Given the description of an element on the screen output the (x, y) to click on. 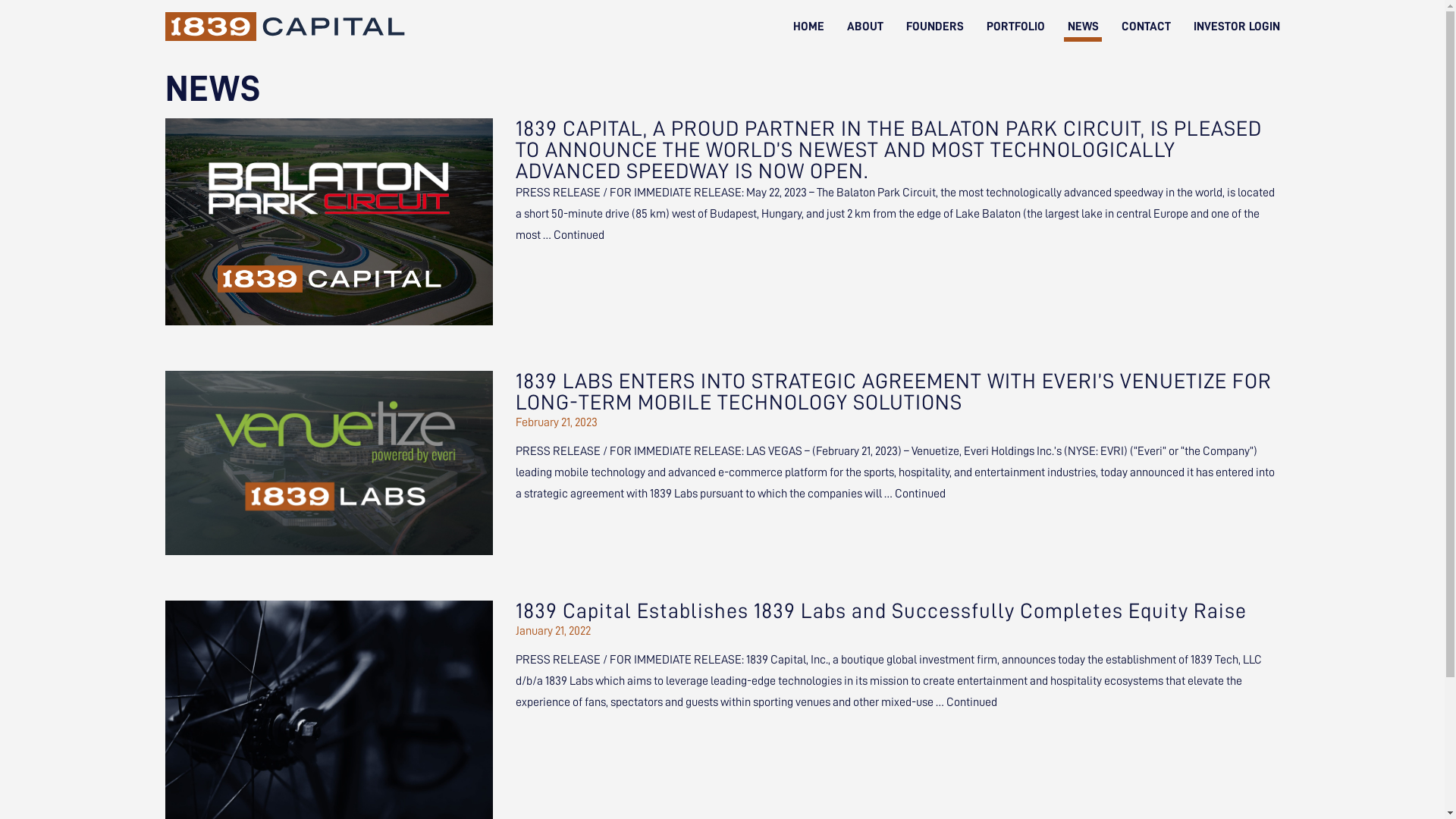
HOME Element type: text (808, 26)
Continued Element type: text (578, 235)
CONTACT Element type: text (1145, 26)
FOUNDERS Element type: text (934, 26)
ABOUT Element type: text (864, 26)
Continued Element type: text (971, 702)
INVESTOR LOGIN Element type: text (1236, 26)
NEWS Element type: text (1082, 26)
Continued Element type: text (919, 493)
PORTFOLIO Element type: text (1014, 26)
